Given the description of an element on the screen output the (x, y) to click on. 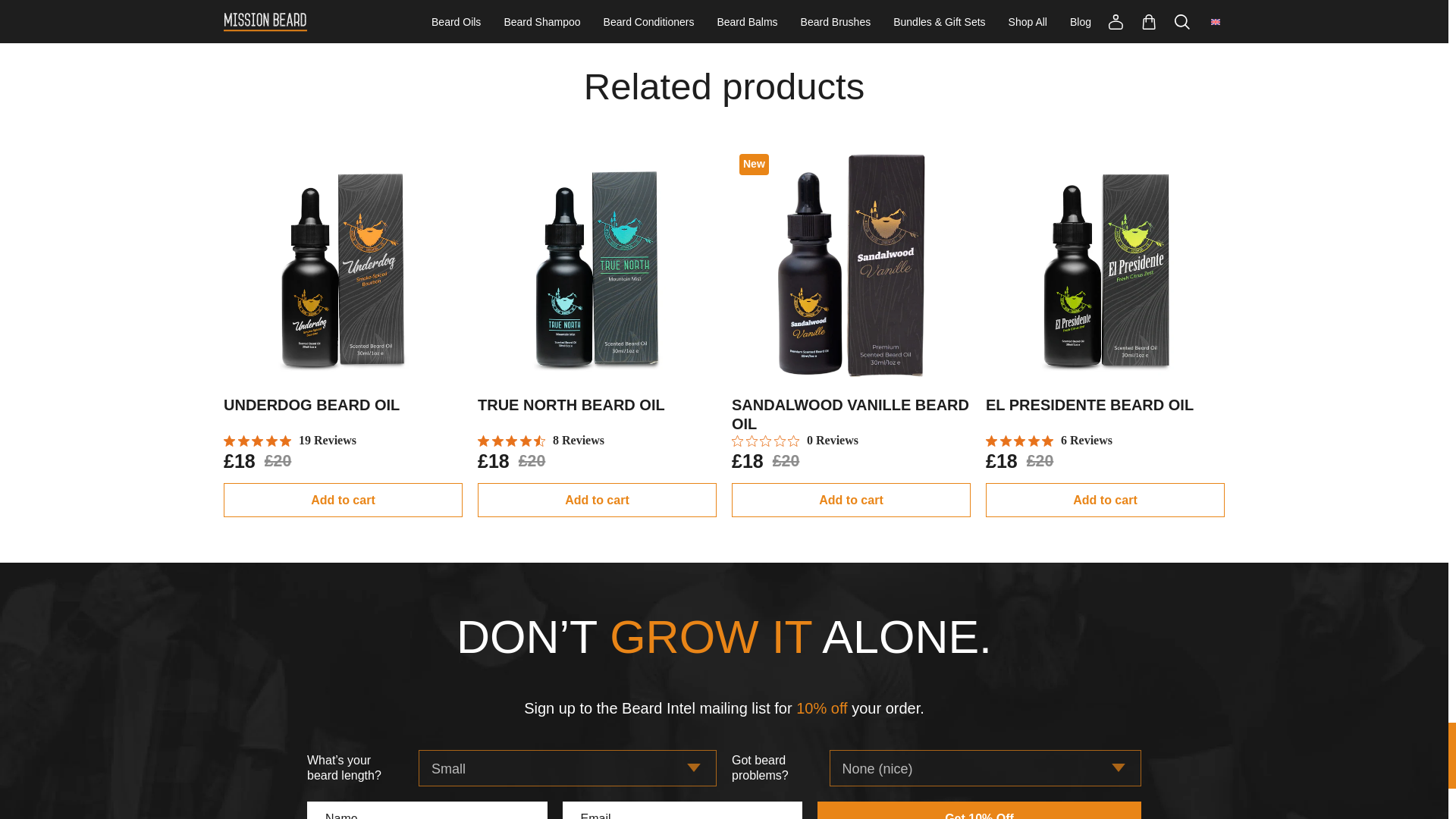
8 Reviews (540, 440)
UNDERDOG BEARD OIL (311, 404)
Add to cart (343, 499)
TRUE NORTH BEARD OIL (571, 404)
6 Reviews (1048, 440)
0 Reviews (795, 440)
19 Reviews (290, 440)
Add to cart (596, 499)
